Given the description of an element on the screen output the (x, y) to click on. 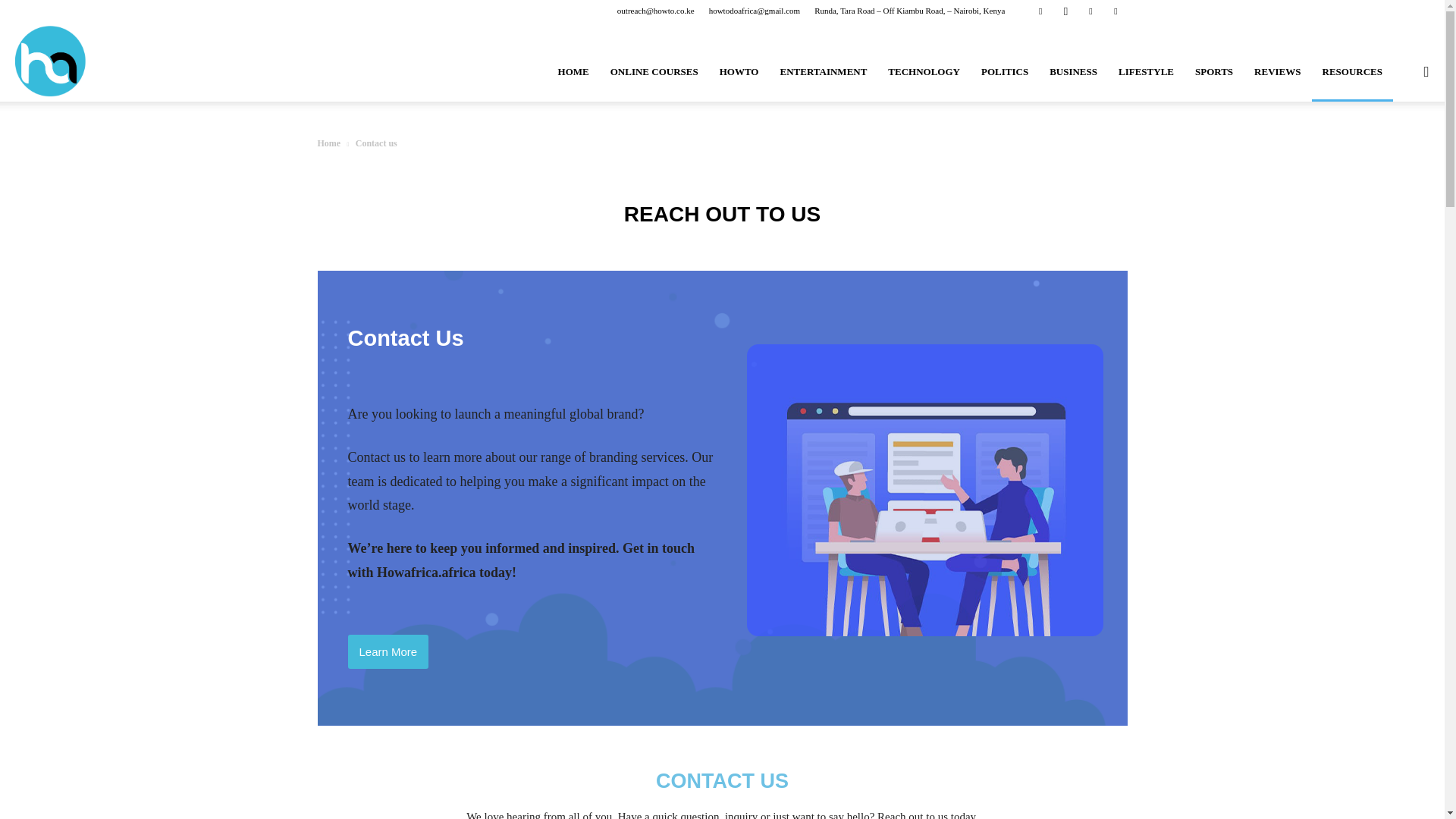
Instagram (1065, 10)
Linkedin (1090, 10)
Facebook (1040, 10)
Twitter (1114, 10)
Howafrica (49, 61)
Search (1395, 143)
